Given the description of an element on the screen output the (x, y) to click on. 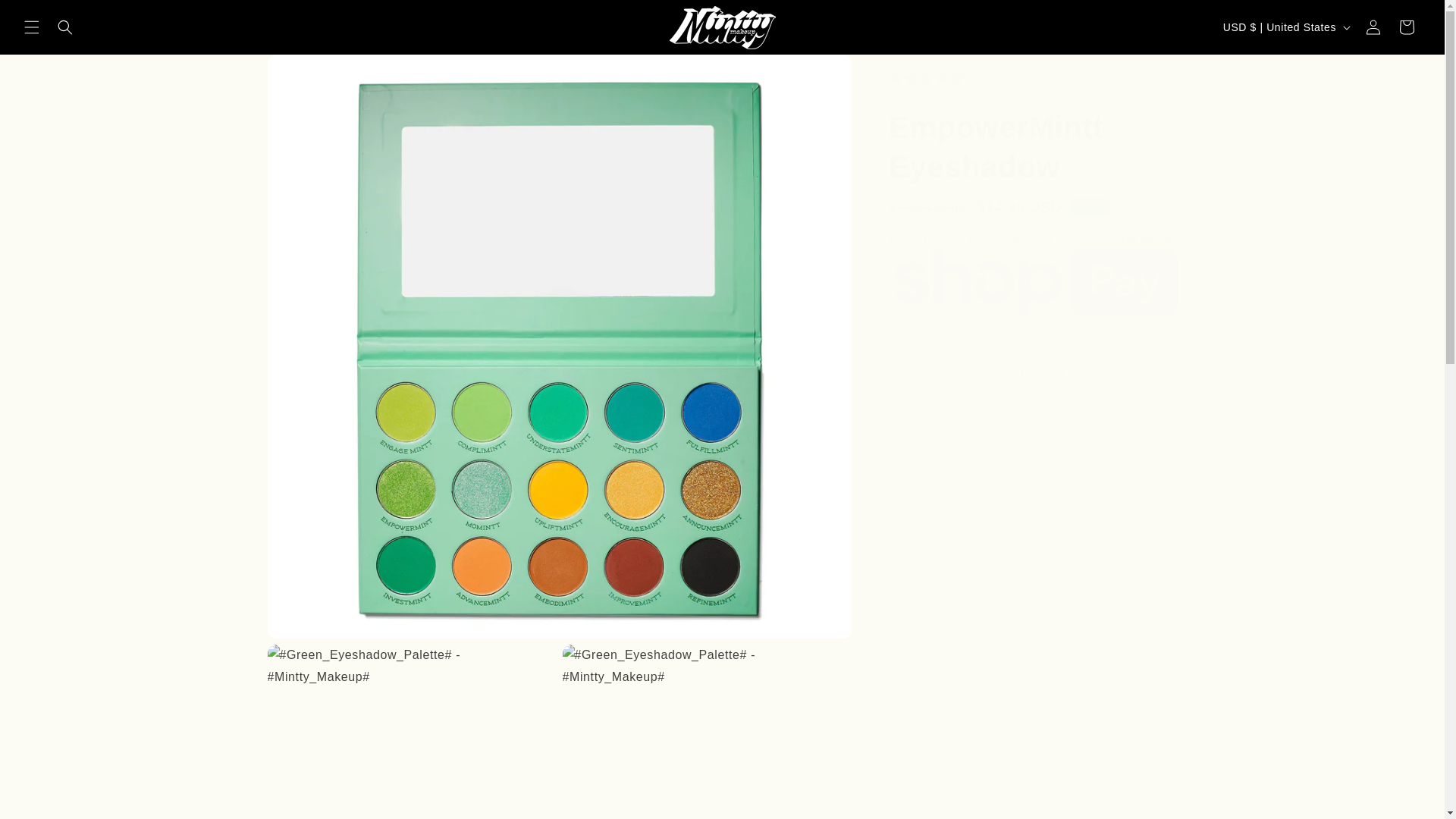
Skip to content (45, 17)
Log in (1373, 27)
Open media 3 in modal (706, 731)
Cart (1406, 27)
Skip to product information (312, 71)
Open media 2 in modal (411, 731)
